Given the description of an element on the screen output the (x, y) to click on. 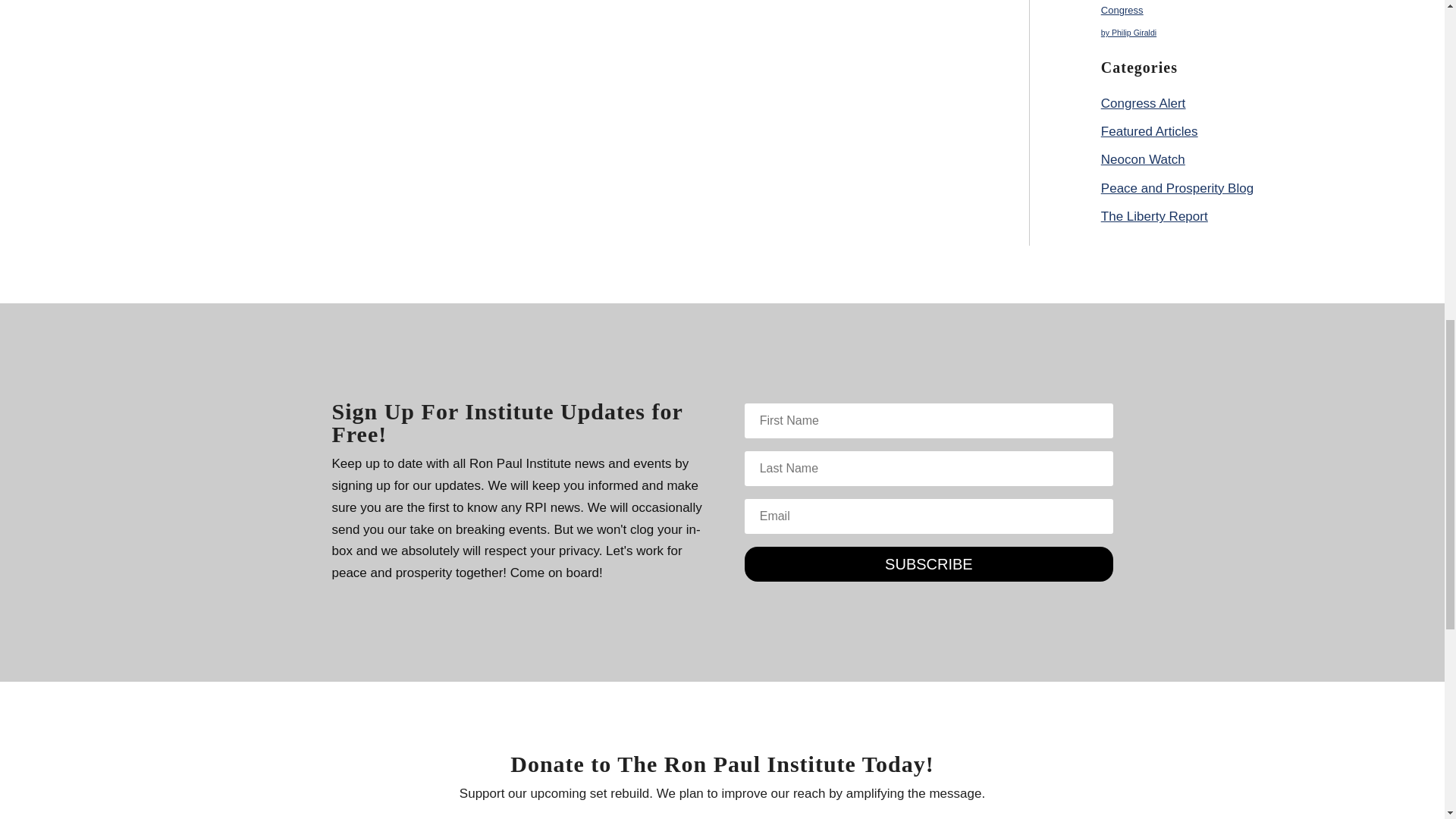
Congress Alert (1143, 103)
Featured Articles (1149, 131)
War Criminal Benjamin Netanyahu Addresses the US Congress (1216, 7)
Neocon Watch (1142, 159)
SUBSCRIBE (928, 564)
The Liberty Report (1154, 216)
Peace and Prosperity Blog (1176, 187)
